Given the description of an element on the screen output the (x, y) to click on. 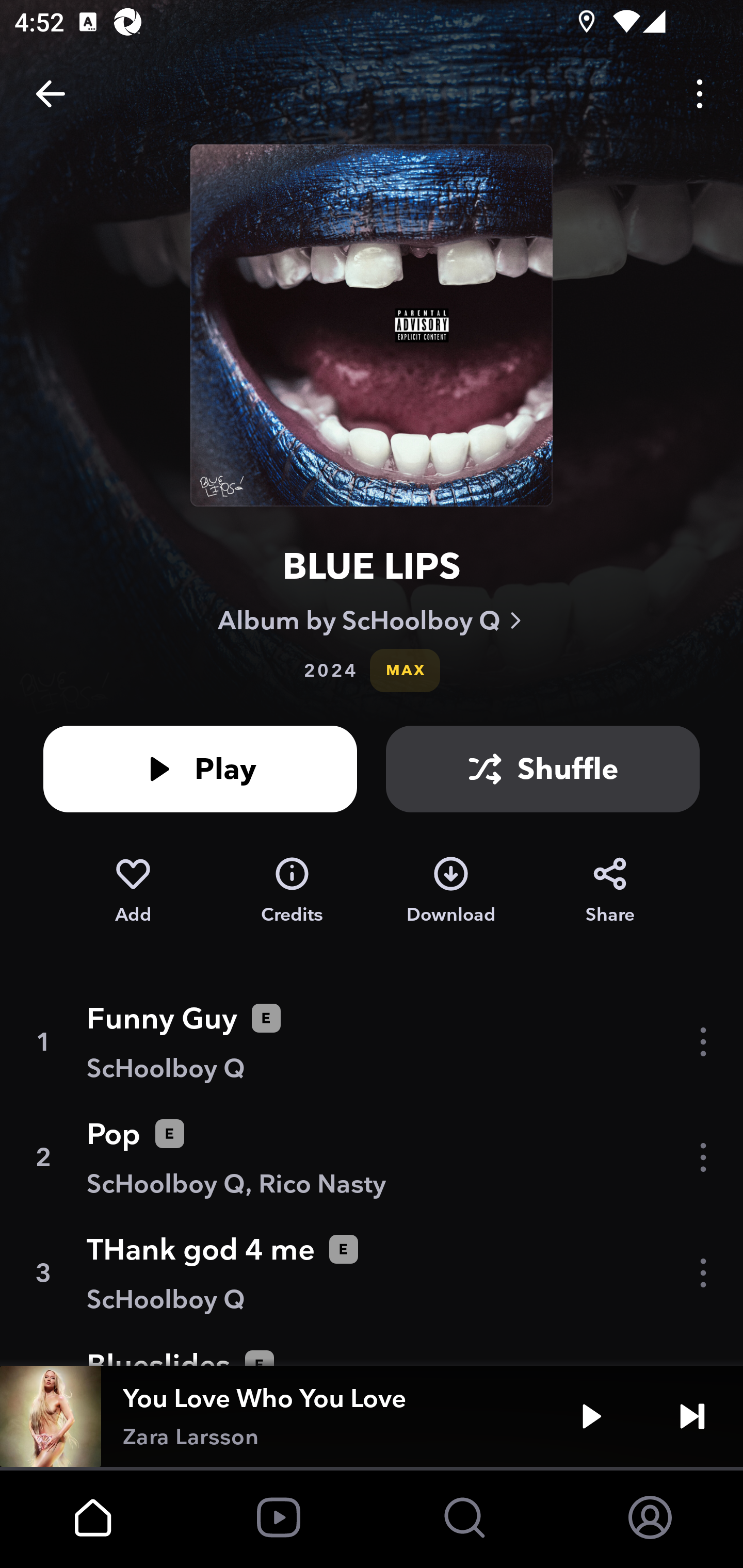
Options (699, 93)
BLUE LIPS (371, 565)
Album by ScHoolboy Q (371, 619)
Play (200, 768)
Shuffle (542, 768)
Add to My Collection Add (132, 890)
Credits (291, 890)
Download (450, 890)
Share (609, 890)
1 Funny Guy ScHoolboy Q (371, 1041)
2 Pop ScHoolboy Q, Rico Nasty (371, 1157)
3 THank god 4 me ScHoolboy Q (371, 1273)
You Love Who You Love Zara Larsson Play (371, 1416)
Play (590, 1416)
